Given the description of an element on the screen output the (x, y) to click on. 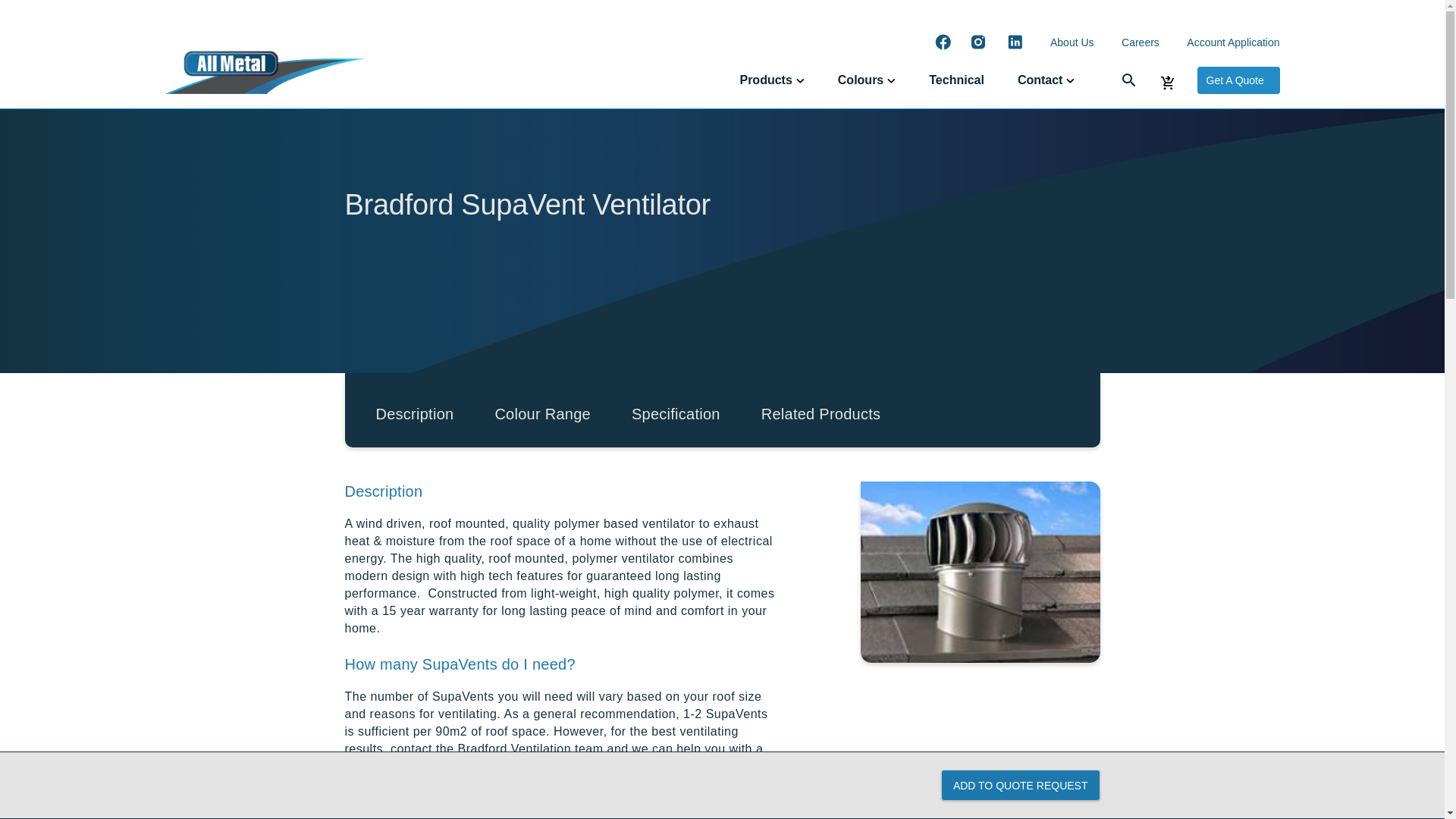
Account Application (1232, 42)
Careers (1139, 42)
Products (771, 78)
About Us (1071, 42)
Colours (866, 78)
